Given the description of an element on the screen output the (x, y) to click on. 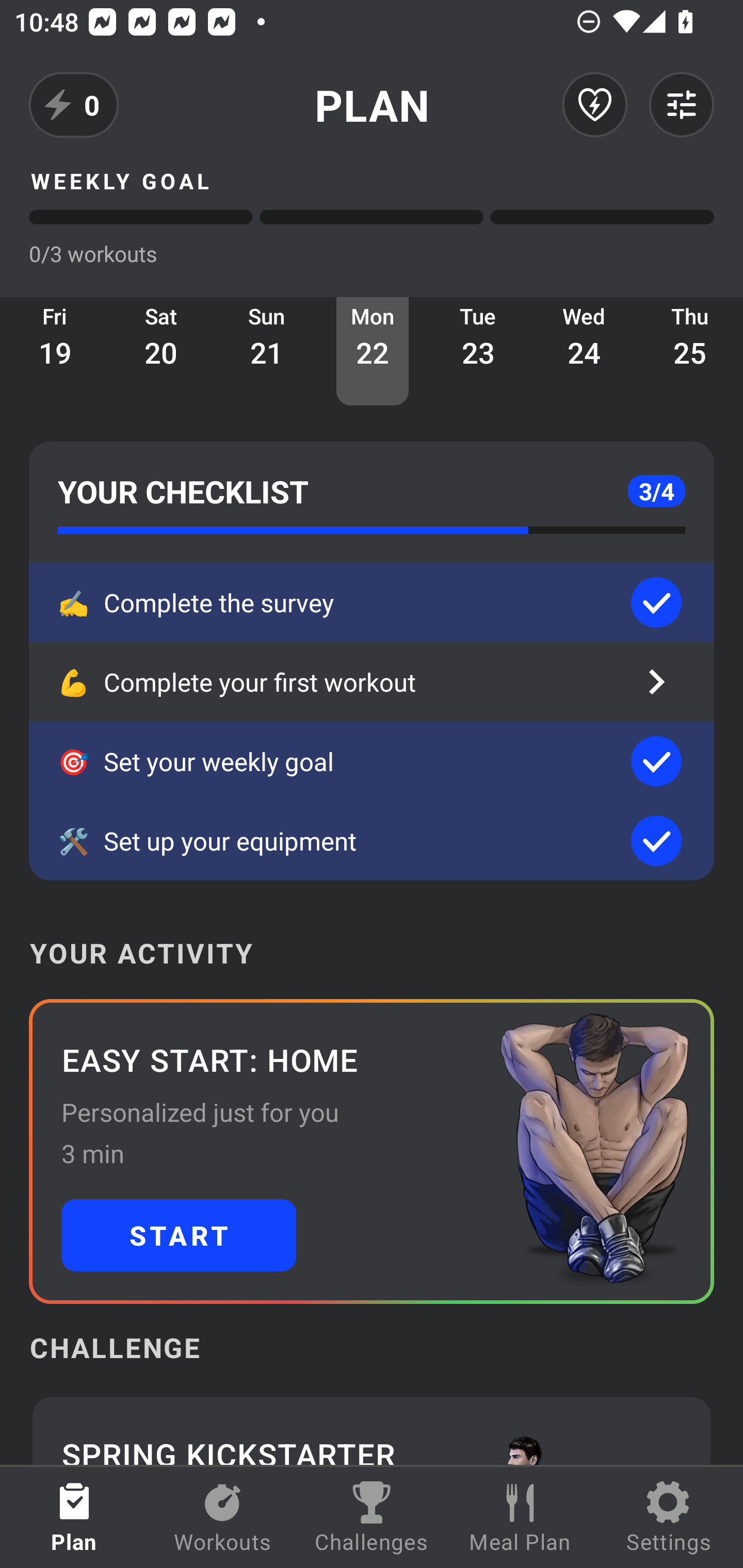
0 (73, 104)
Fri 19 (55, 351)
Sat 20 (160, 351)
Sun 21 (266, 351)
Mon 22 (372, 351)
Tue 23 (478, 351)
Wed 24 (584, 351)
Thu 25 (690, 351)
💪 Complete your first workout (371, 681)
START (178, 1235)
 Workouts  (222, 1517)
 Challenges  (371, 1517)
 Meal Plan  (519, 1517)
 Settings  (668, 1517)
